Given the description of an element on the screen output the (x, y) to click on. 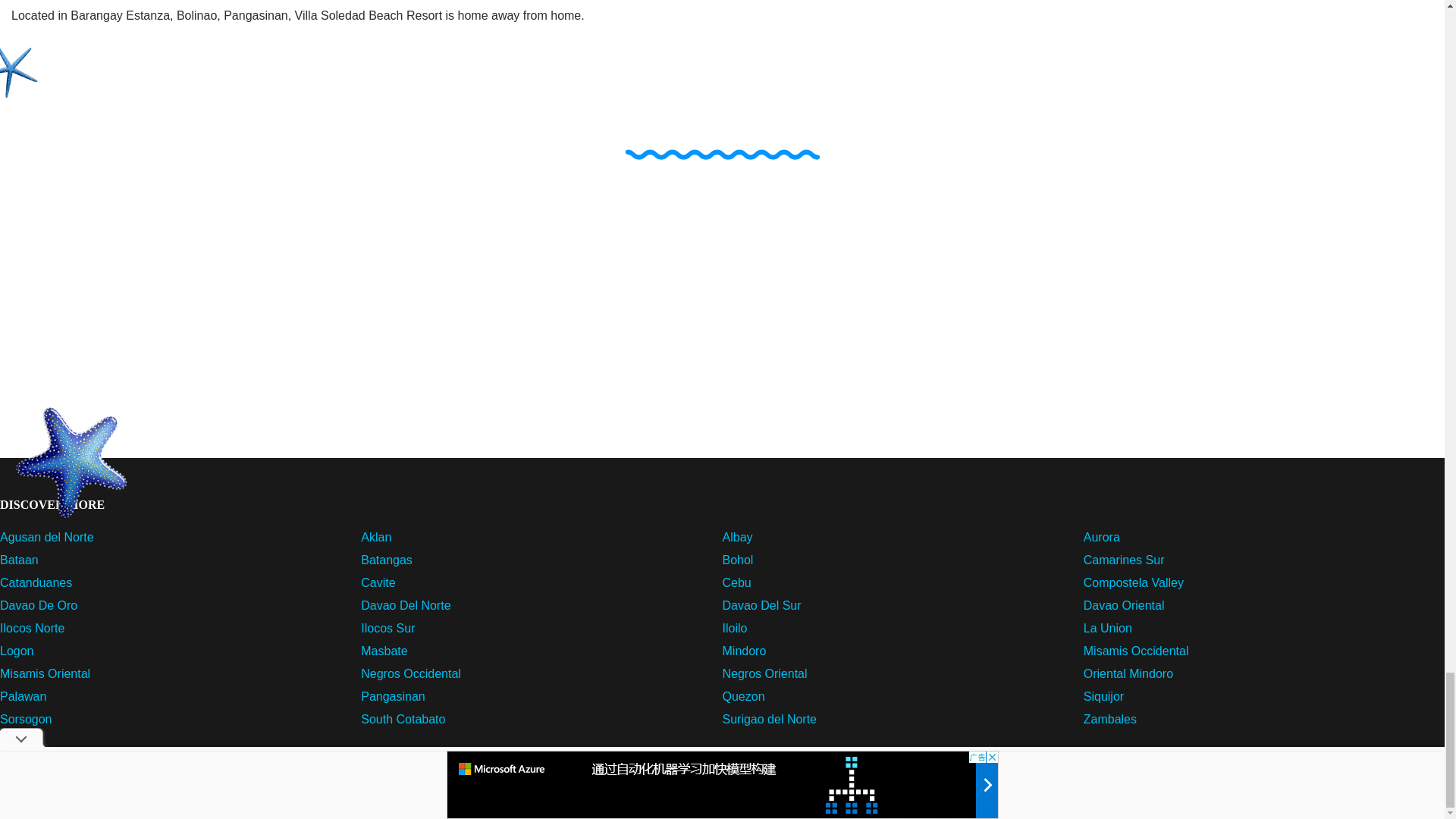
Aklan (376, 536)
Agusan del Norte (47, 536)
Aurora (1101, 536)
Albay (737, 536)
